Given the description of an element on the screen output the (x, y) to click on. 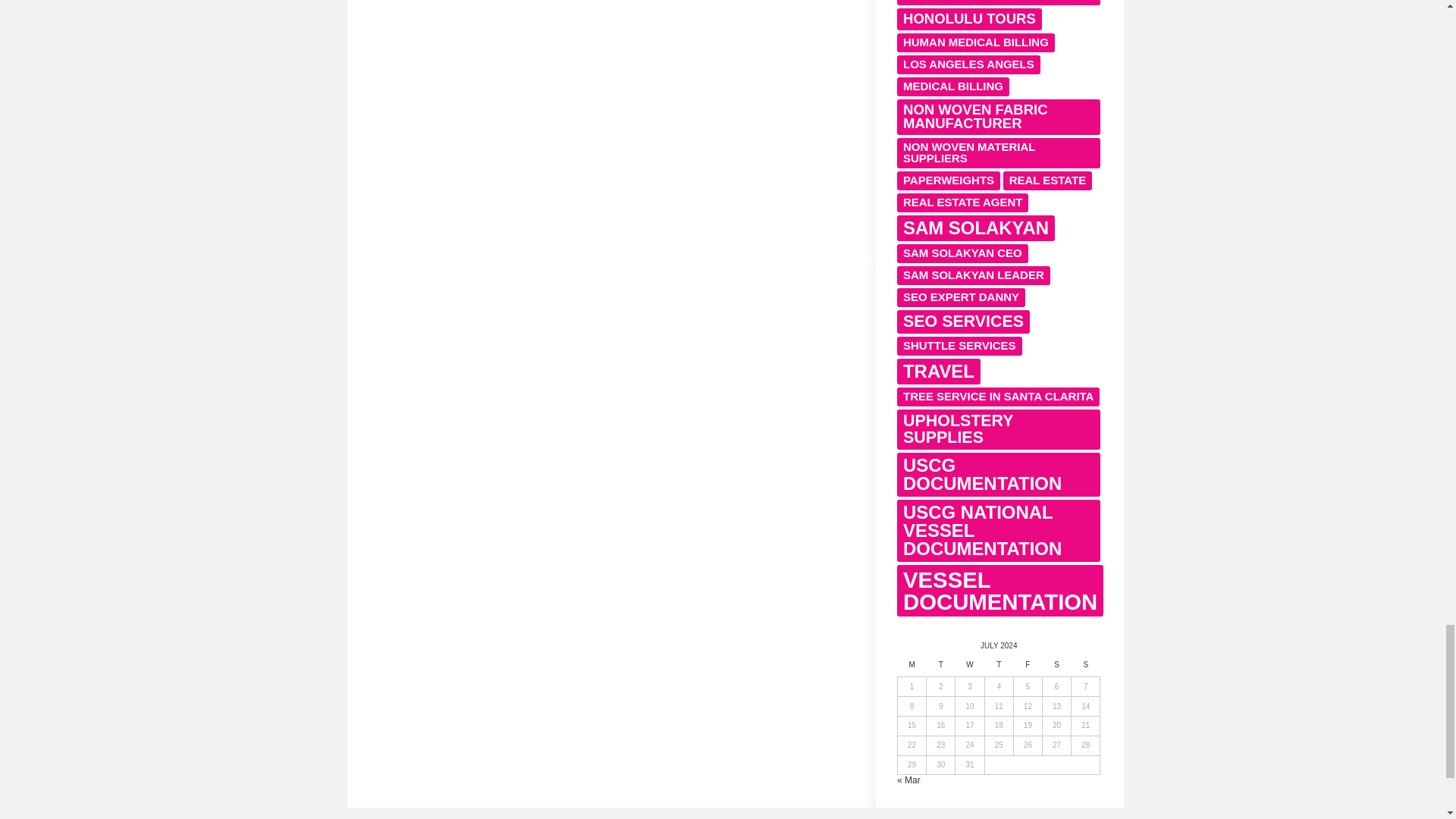
Saturday (1056, 668)
Monday (911, 668)
Friday (1027, 668)
Wednesday (969, 668)
Thursday (998, 668)
Sunday (1085, 668)
Tuesday (940, 668)
